Given the description of an element on the screen output the (x, y) to click on. 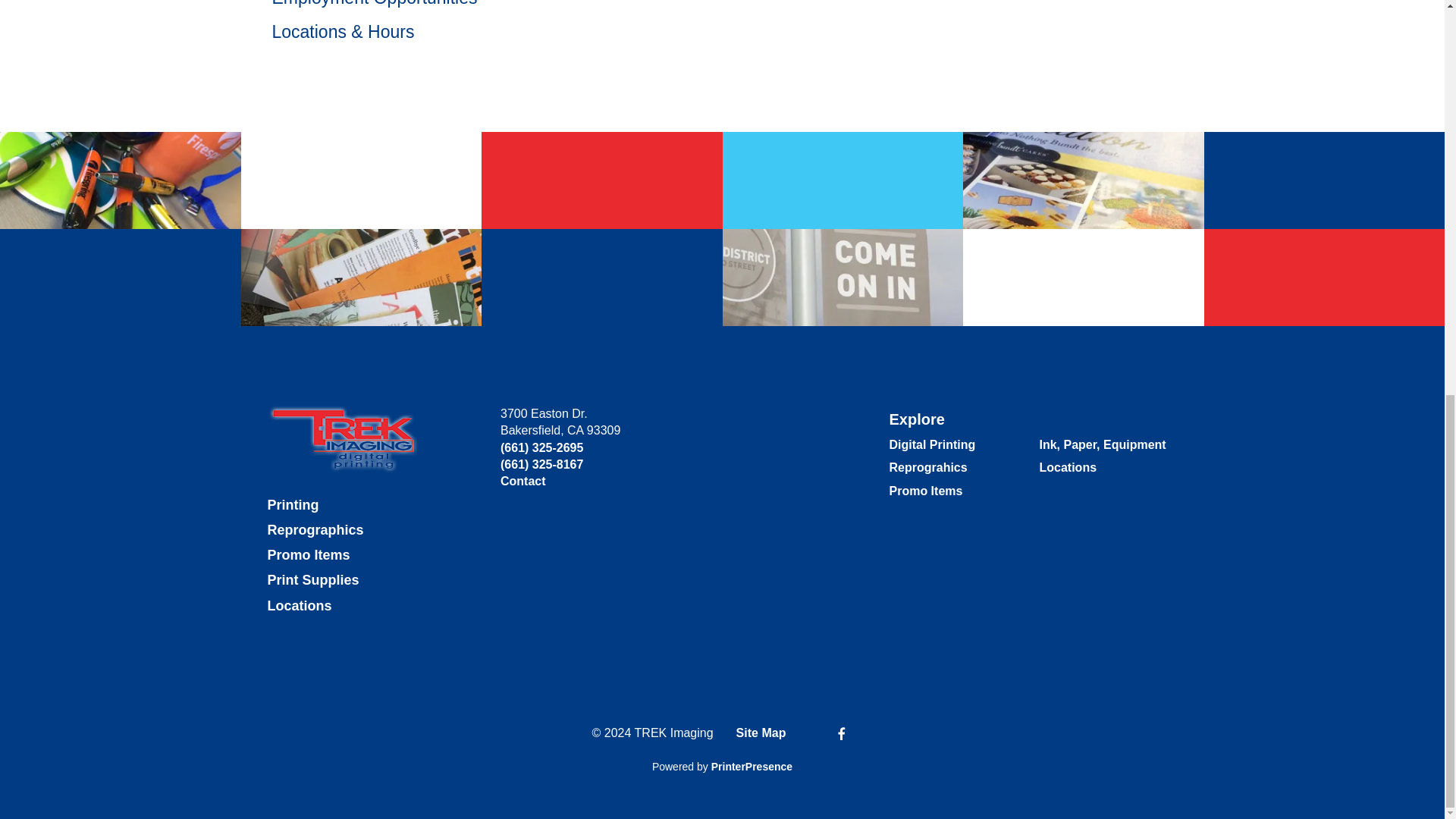
logo (342, 439)
